Given the description of an element on the screen output the (x, y) to click on. 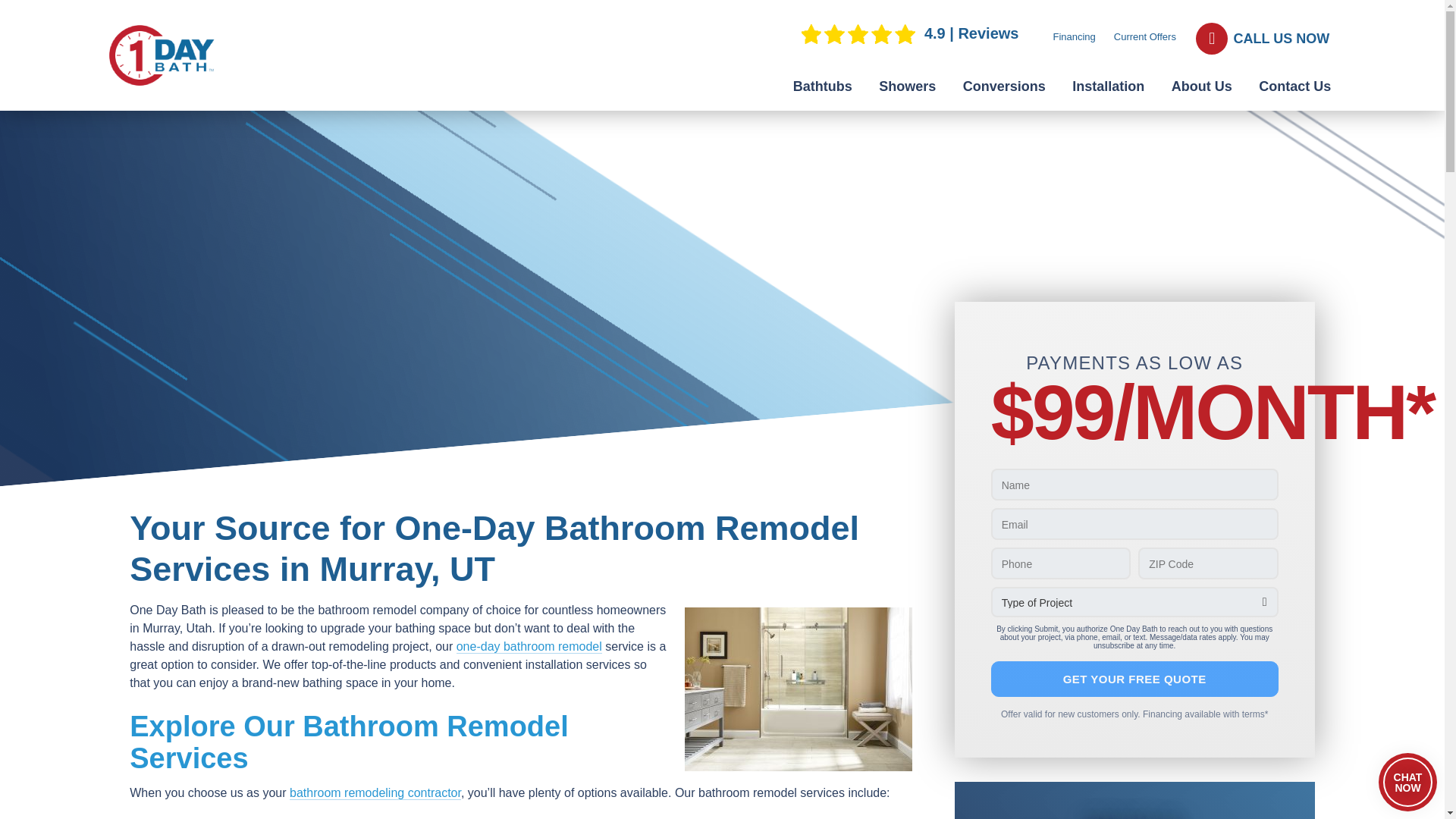
Showers (907, 86)
One Day Bath (162, 55)
Bathroom Remodeling Contractor Murray UT (798, 688)
Conversions (1004, 86)
About Us (1201, 86)
Current Offers (1144, 36)
Bathtubs (822, 86)
Installation (1108, 86)
Get Your Free Quote (1134, 678)
Financing (1073, 36)
